Given the description of an element on the screen output the (x, y) to click on. 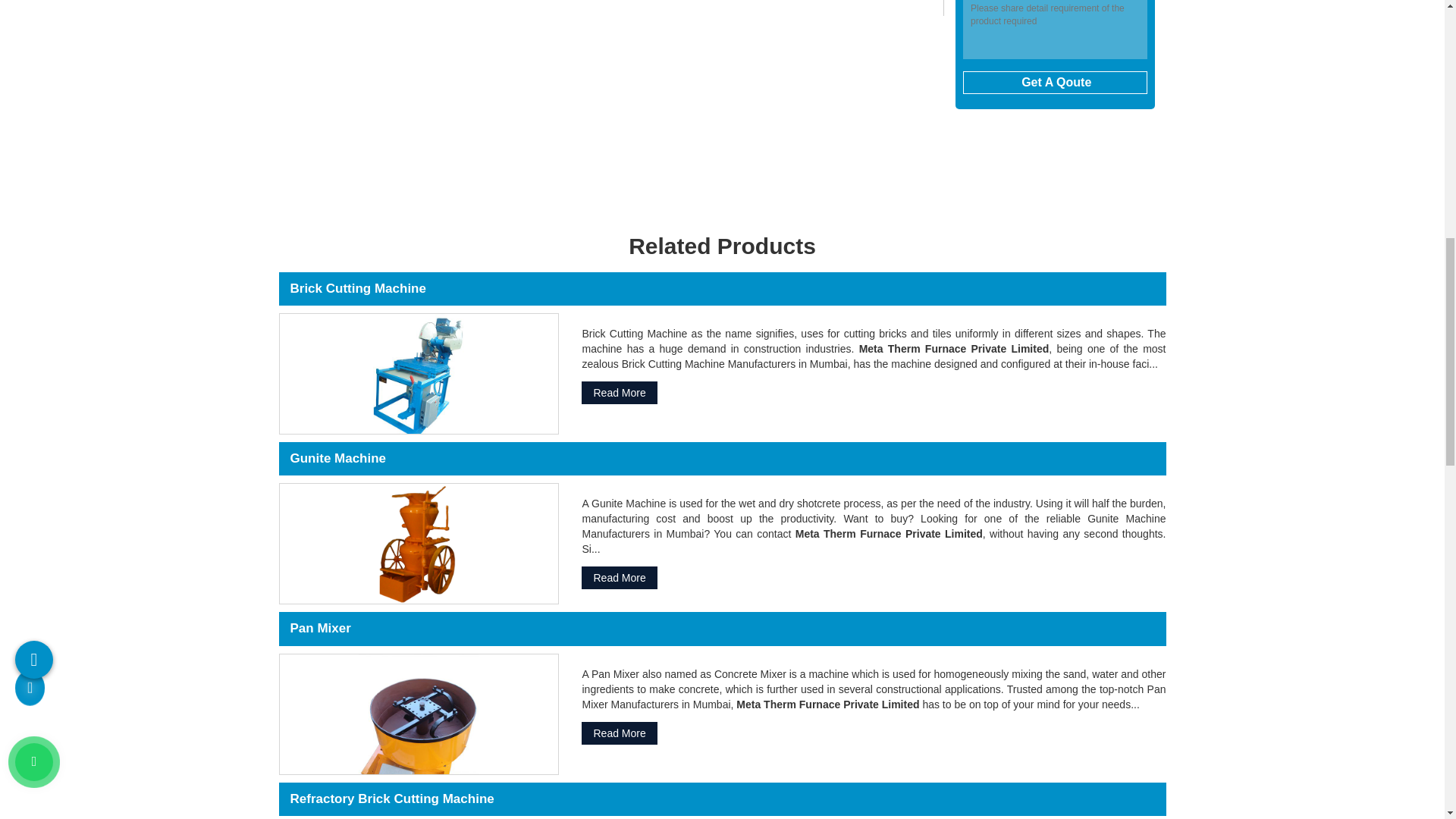
Get A Qoute (1054, 82)
